Given the description of an element on the screen output the (x, y) to click on. 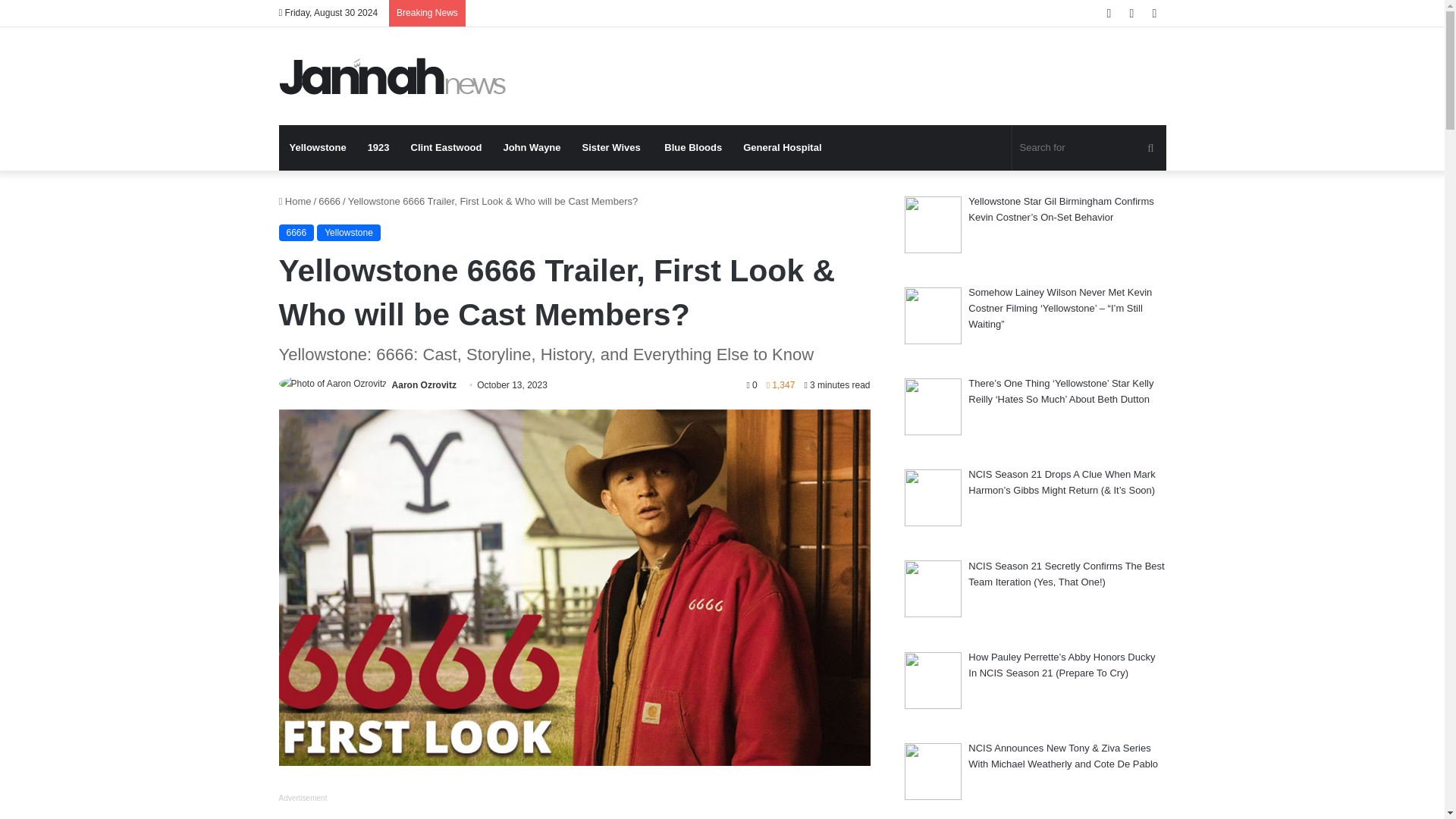
Home (295, 201)
Clint Eastwood (446, 147)
Search for (1088, 147)
Aaron Ozrovitz (424, 385)
6666 (296, 232)
Yellowstone (348, 232)
6666 (329, 201)
Sister Wives  (612, 147)
John Wayne (531, 147)
Blue Bloods (692, 147)
